Given the description of an element on the screen output the (x, y) to click on. 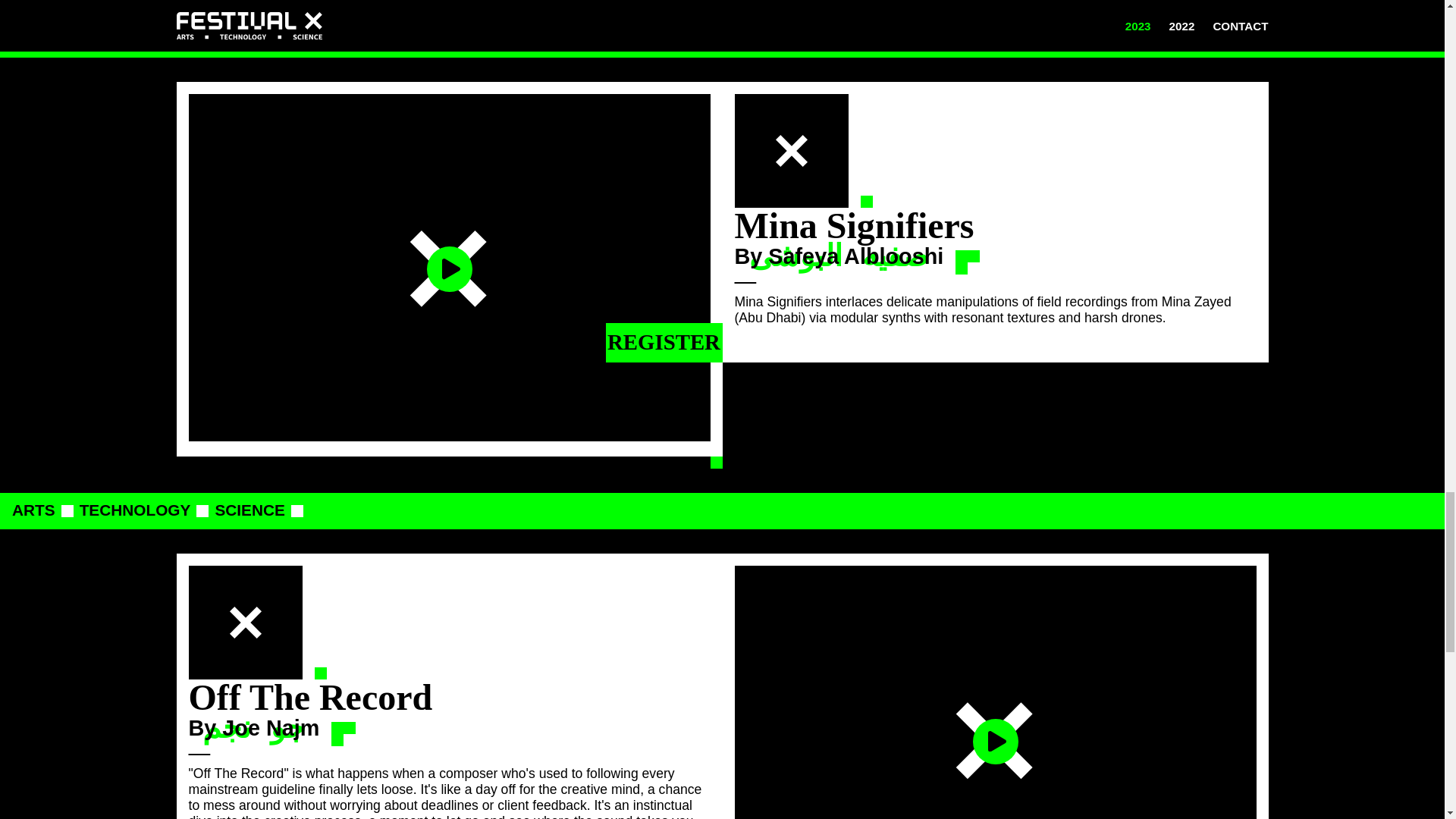
REGISTER (663, 342)
"Off The Record" by Joe Najm (994, 692)
